Given the description of an element on the screen output the (x, y) to click on. 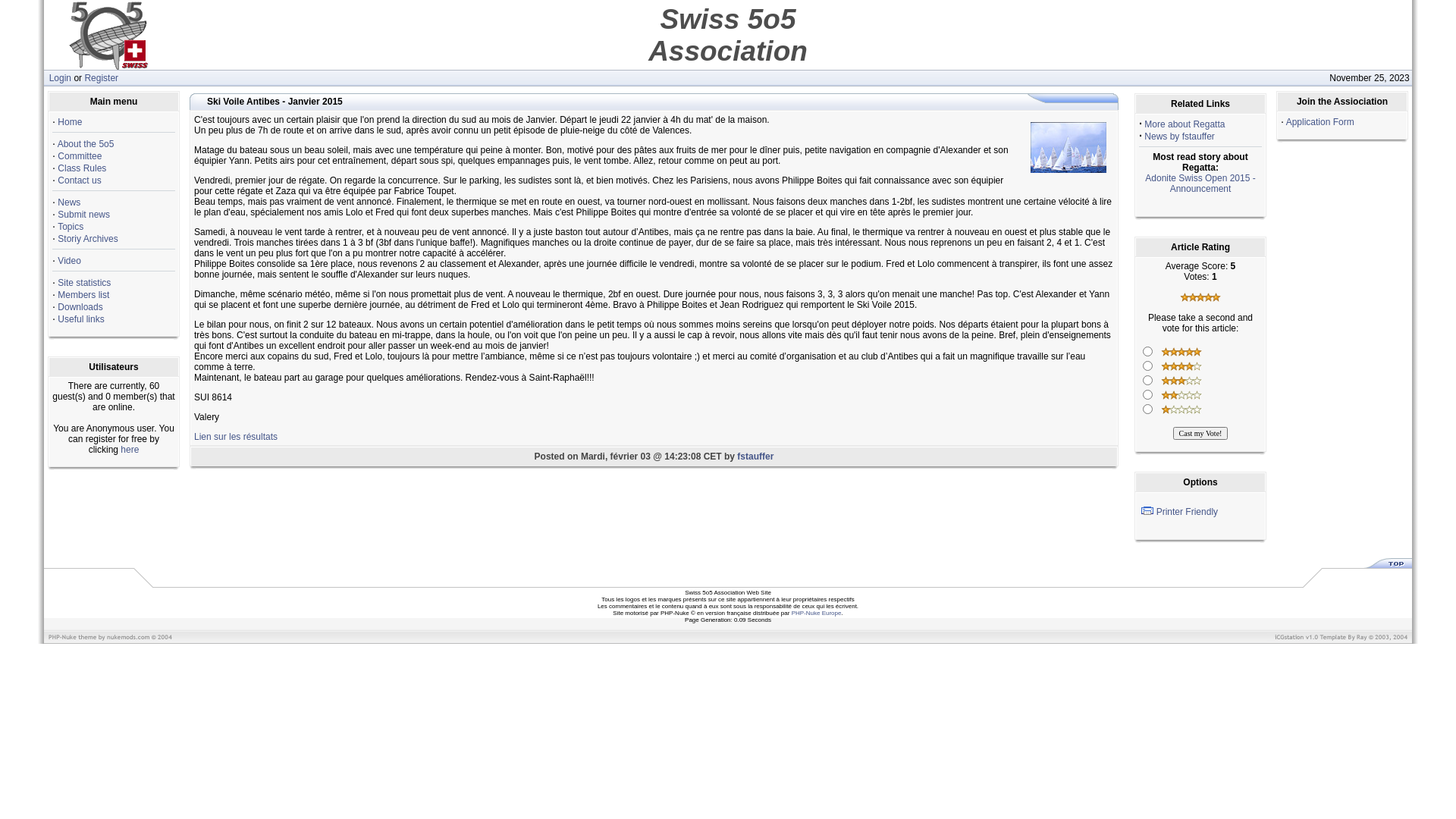
Useful links Element type: text (80, 318)
Contact us Element type: text (78, 180)
Adonite Swiss Open 2015 - Announcement Element type: text (1200, 183)
Printer Friendly Element type: text (1186, 511)
Excellent Element type: hover (1181, 351)
Topics Element type: text (70, 226)
Site statistics Element type: text (83, 282)
Home Element type: text (69, 121)
Video Element type: text (68, 260)
Cast my Vote! Element type: text (1200, 432)
Regular Element type: hover (1181, 394)
PHP-Nuke Europe Element type: text (816, 612)
Good Element type: hover (1181, 380)
Submit news Element type: text (83, 214)
Bad Element type: hover (1181, 409)
Application Form Element type: text (1320, 121)
Class Rules Element type: text (81, 168)
News by fstauffer Element type: text (1179, 136)
Login Element type: text (60, 77)
About the 5o5 Element type: text (85, 143)
Printer Friendly Element type: hover (1147, 510)
More about Regatta Element type: text (1184, 124)
Regatta Element type: hover (1068, 147)
News Element type: text (68, 202)
here Element type: text (129, 449)
Very Good Element type: hover (1181, 365)
Downloads Element type: text (79, 306)
fstauffer Element type: text (755, 456)
Register Element type: text (101, 77)
Storiy Archives Element type: text (87, 238)
Committee Element type: text (79, 155)
Members list Element type: text (83, 294)
